Given the description of an element on the screen output the (x, y) to click on. 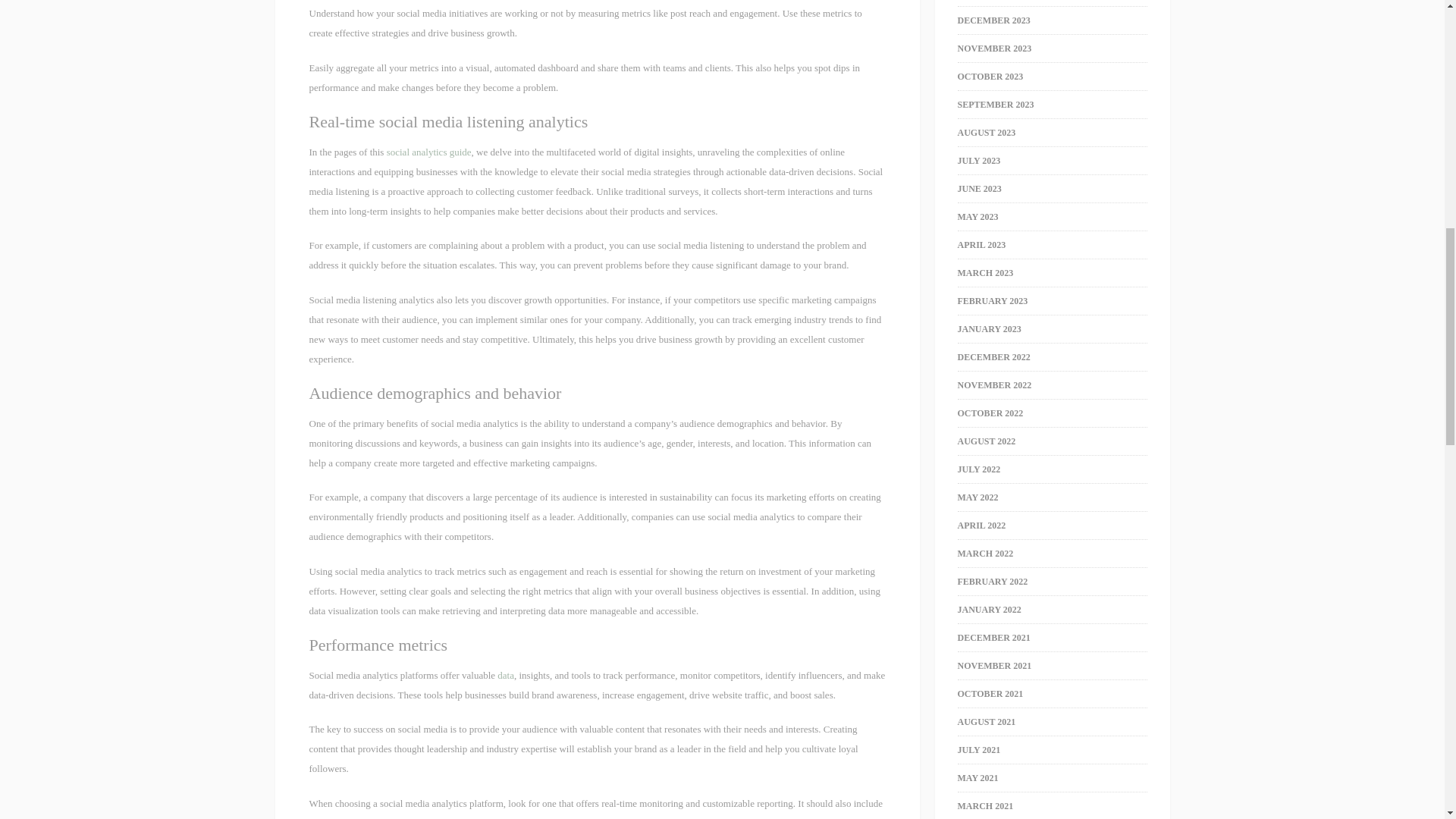
social analytics guide (429, 152)
data (505, 674)
